Given the description of an element on the screen output the (x, y) to click on. 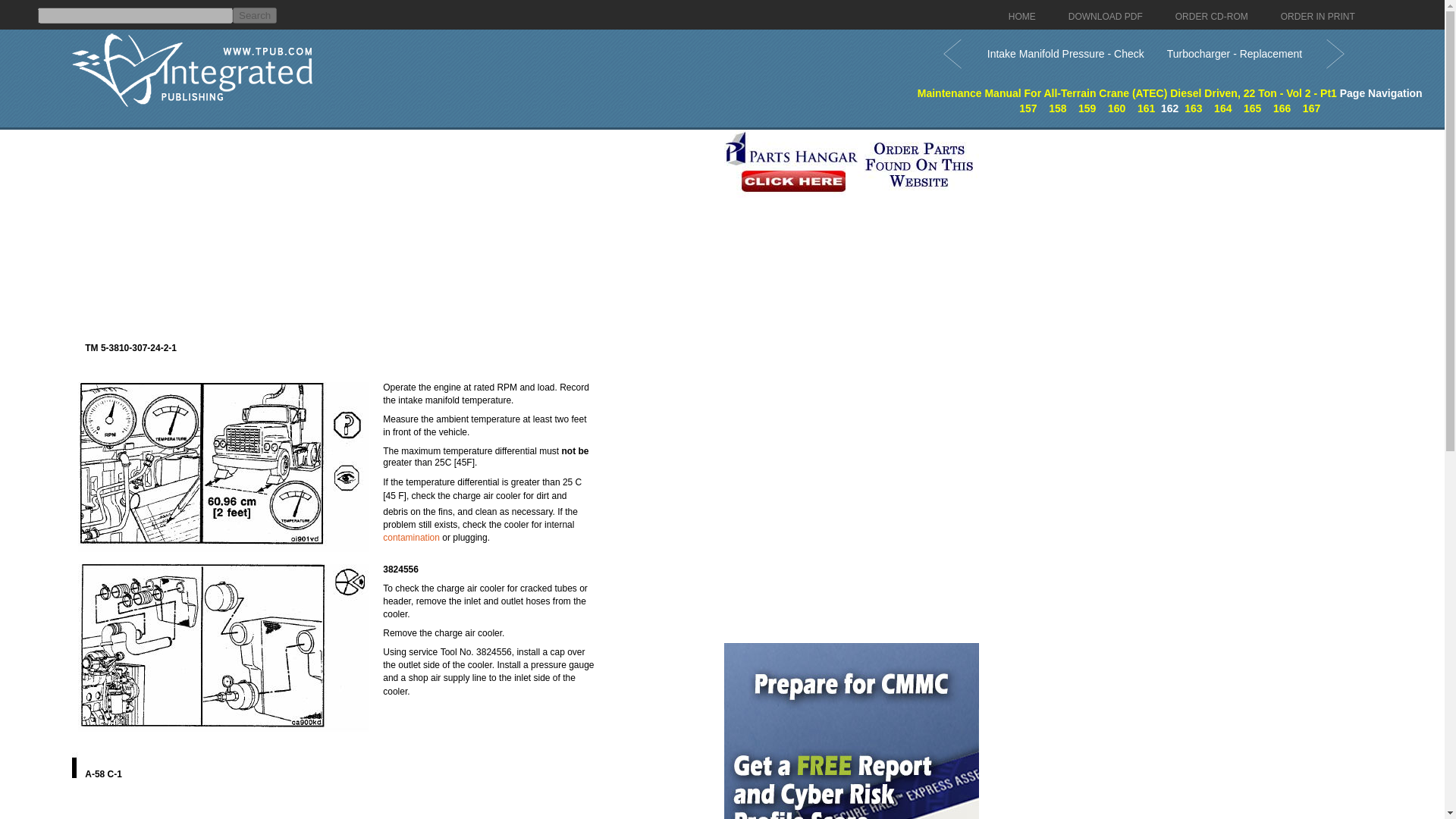
DOWNLOAD PDF (1105, 16)
Search (254, 15)
contamination (410, 537)
164 (1222, 108)
158 (1056, 108)
Turbocharger - Replacement (1234, 53)
Search (254, 15)
Turbocharger - Replacement - Continued (1281, 108)
Charge Air Cooler - Leak Check (1116, 108)
